Given the description of an element on the screen output the (x, y) to click on. 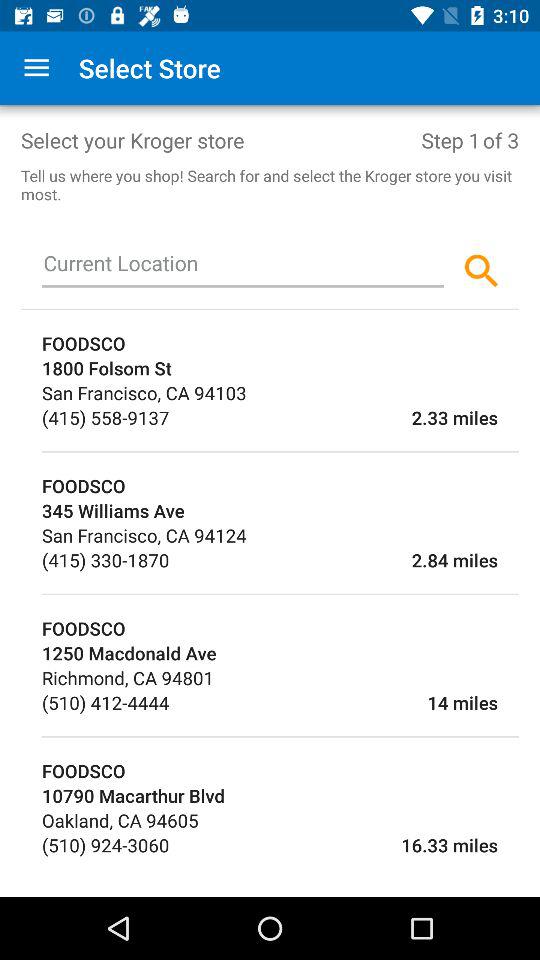
turn on the 1800 folsom st (280, 367)
